Given the description of an element on the screen output the (x, y) to click on. 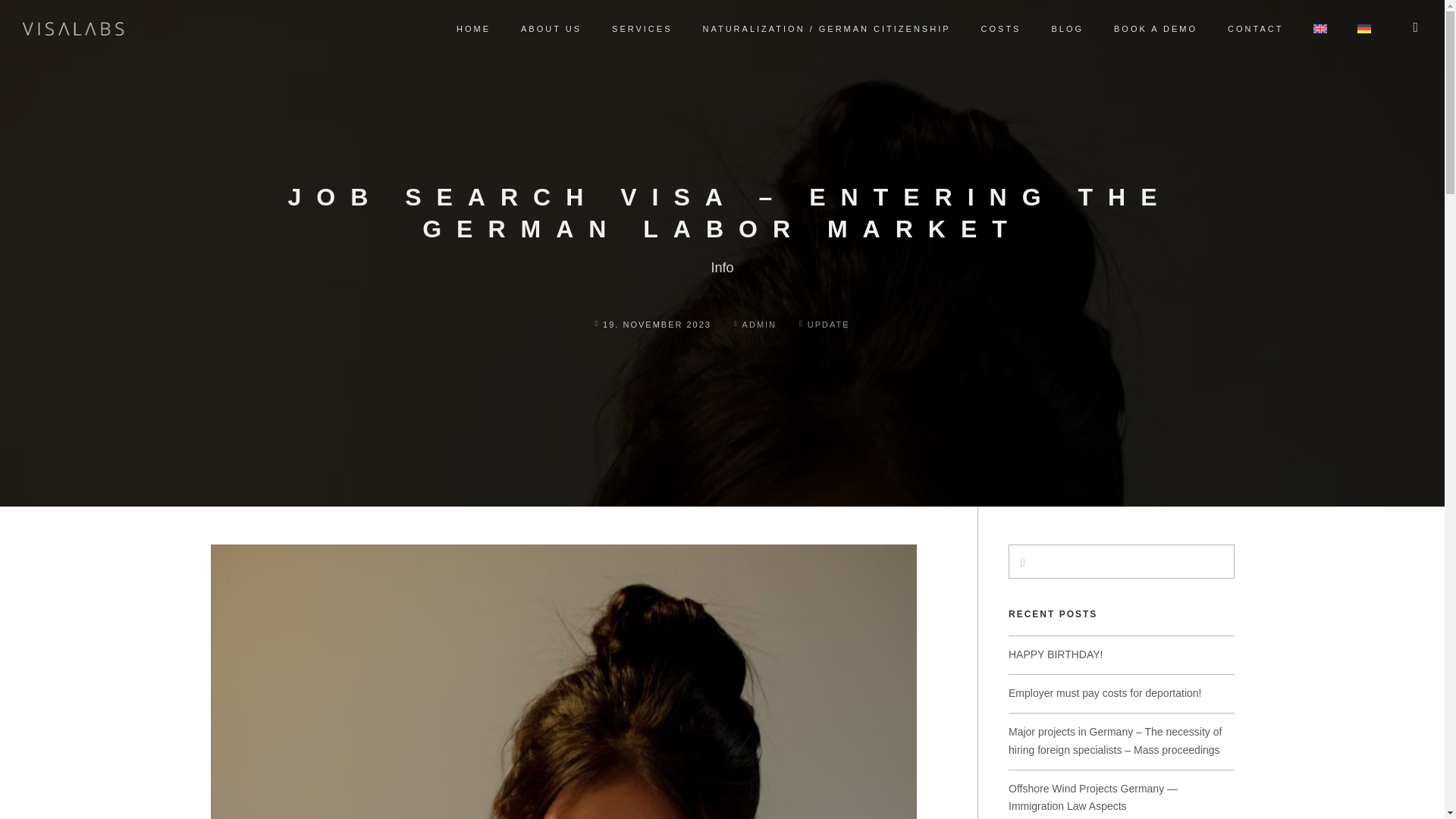
ADMIN (754, 324)
CONTACT (1254, 29)
VISALABS (73, 29)
BOOK A DEMO (1154, 29)
SERVICES (641, 29)
ABOUT US (550, 29)
Search (22, 10)
UPDATE (829, 324)
